Given the description of an element on the screen output the (x, y) to click on. 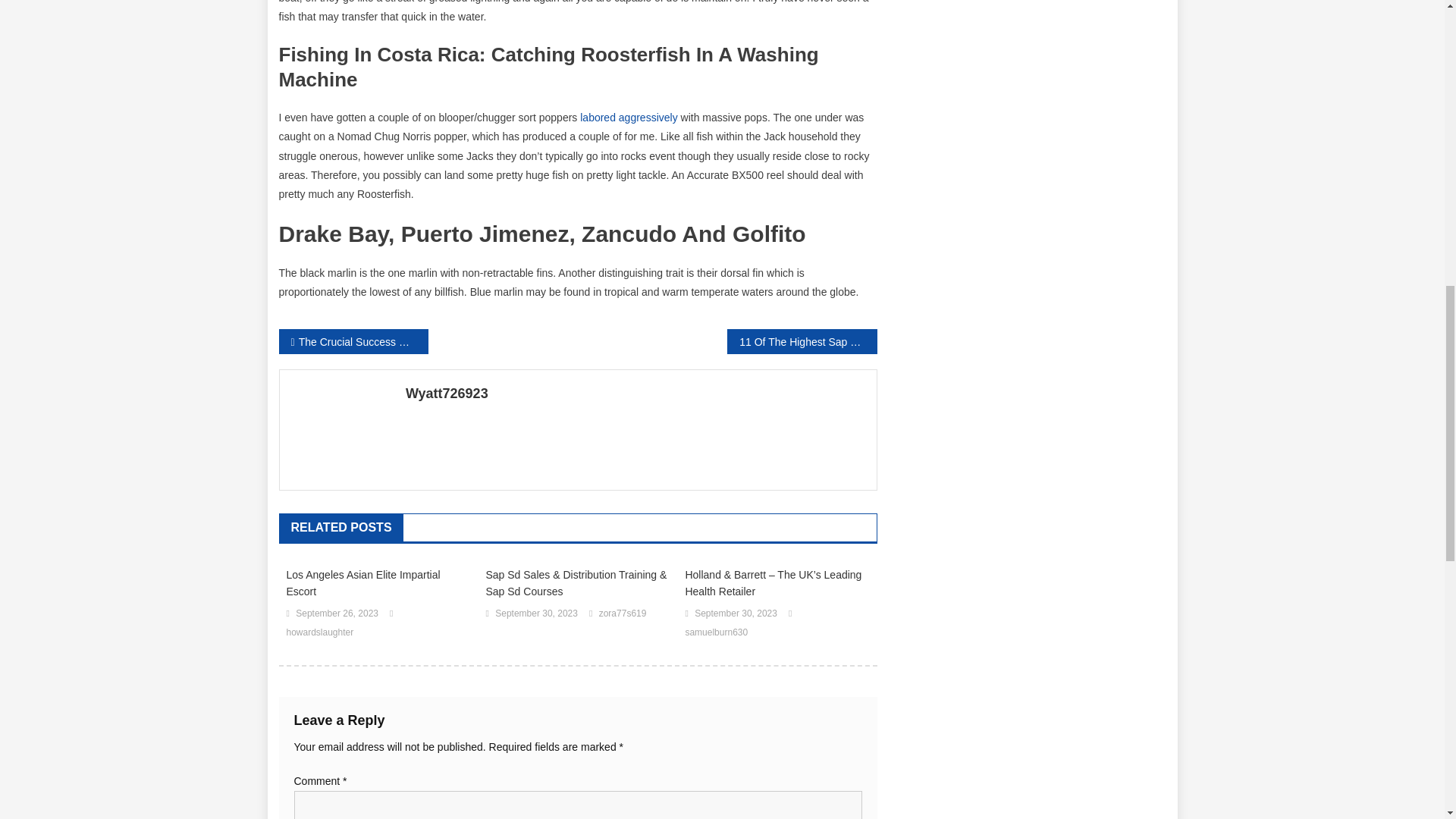
zora77s619 (622, 614)
labored aggressively (628, 117)
Wyatt726923 (635, 393)
Los Angeles Asian Elite Impartial Escort (378, 582)
September 30, 2023 (536, 614)
September 26, 2023 (336, 614)
howardslaughter (319, 632)
